Given the description of an element on the screen output the (x, y) to click on. 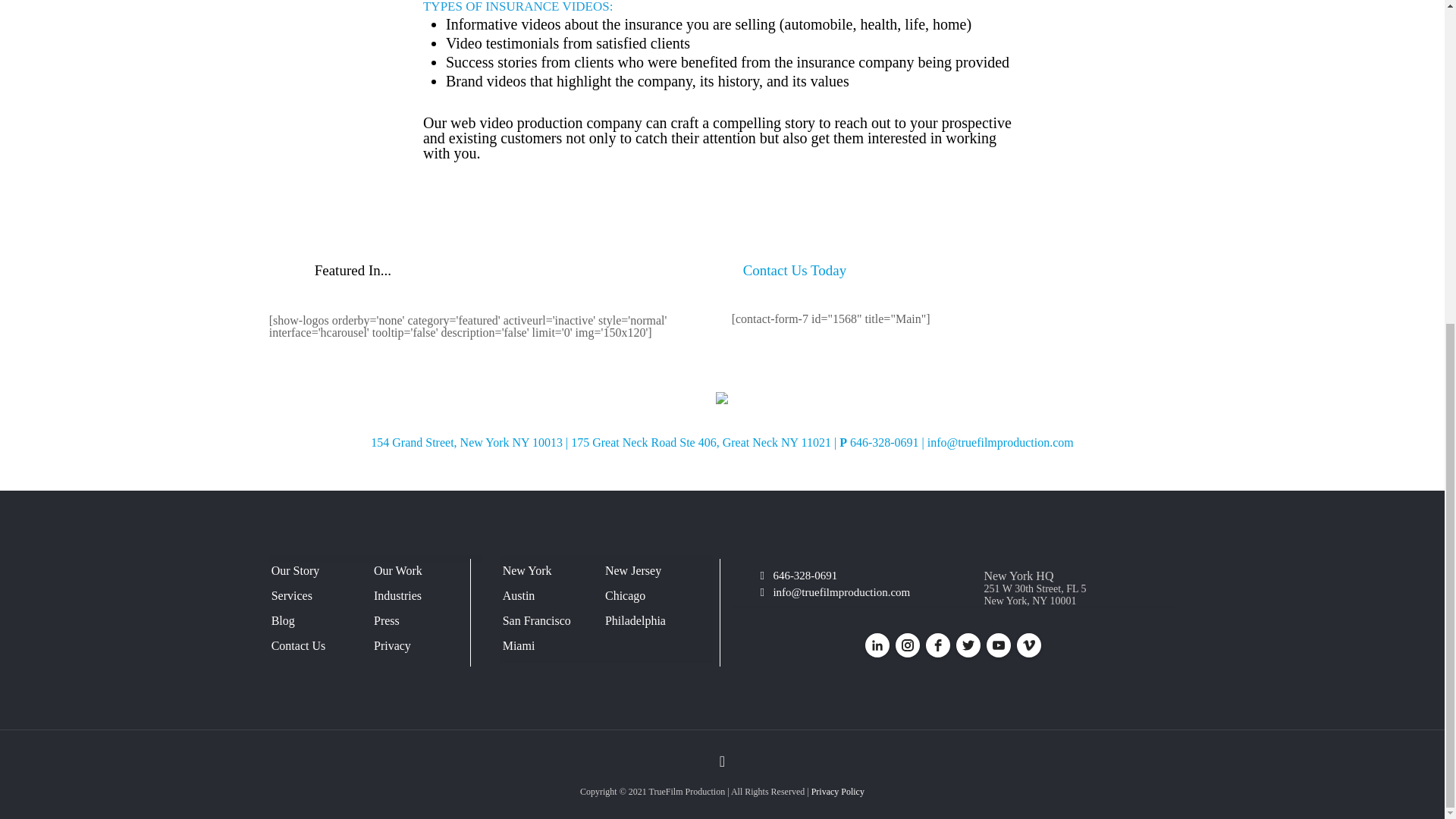
Services (320, 596)
Our Work (422, 570)
Our Story (320, 570)
Industries (422, 596)
